Given the description of an element on the screen output the (x, y) to click on. 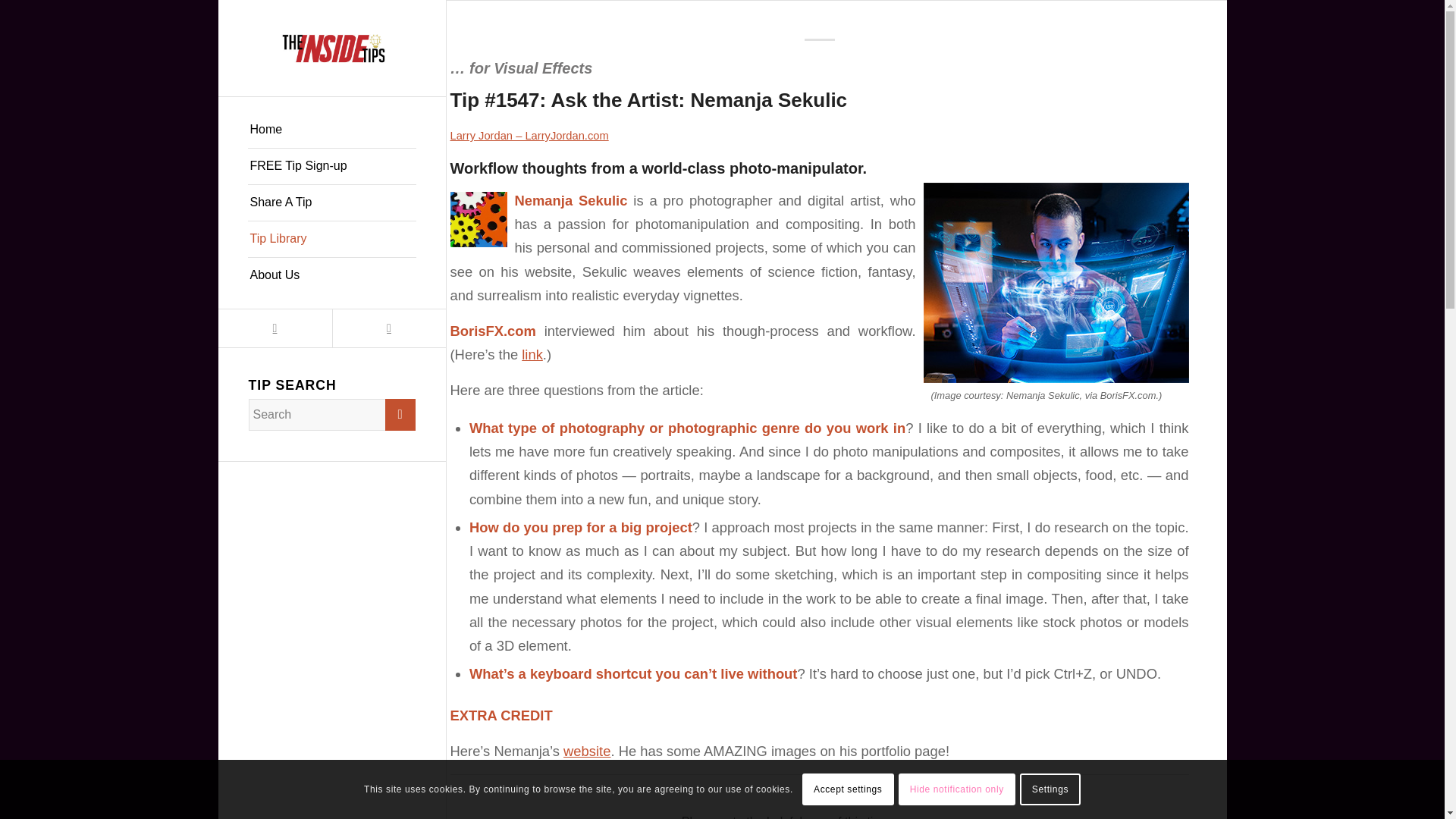
Share A Tip (330, 203)
Facebook (388, 328)
Home (330, 130)
About Us (330, 275)
website (586, 750)
Twitter (274, 328)
FREE Tip Sign-up (330, 166)
link (532, 354)
Tip Library (330, 239)
